Given the description of an element on the screen output the (x, y) to click on. 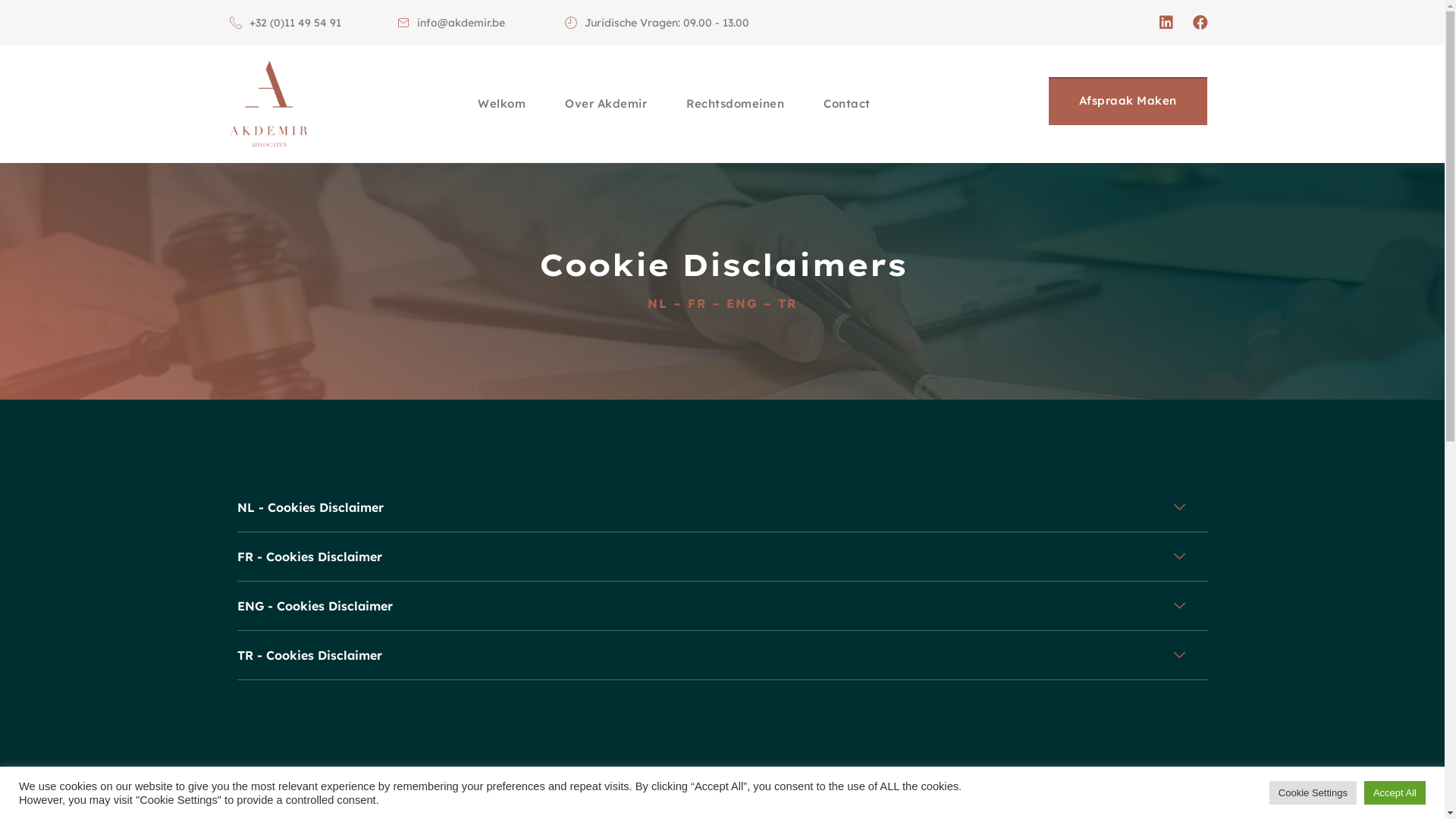
ENG - Cookies Disclaimer Element type: text (721, 605)
Contact Element type: text (846, 103)
info@akdemir.be Element type: text (451, 23)
Accept All Element type: text (1394, 792)
Juridische Vragen: 09.00 - 13.00 Element type: text (656, 23)
NL - Cookies Disclaimer Element type: text (721, 507)
Welkom Element type: text (501, 103)
Cookie Settings Element type: text (1312, 792)
Rechtsdomeinen Element type: text (734, 103)
Afspraak Maken Element type: text (1127, 101)
Over Akdemir Element type: text (605, 103)
FR - Cookies Disclaimer Element type: text (721, 556)
TR - Cookies Disclaimer Element type: text (721, 655)
+32 (0)11 49 54 91 Element type: text (284, 23)
